Given the description of an element on the screen output the (x, y) to click on. 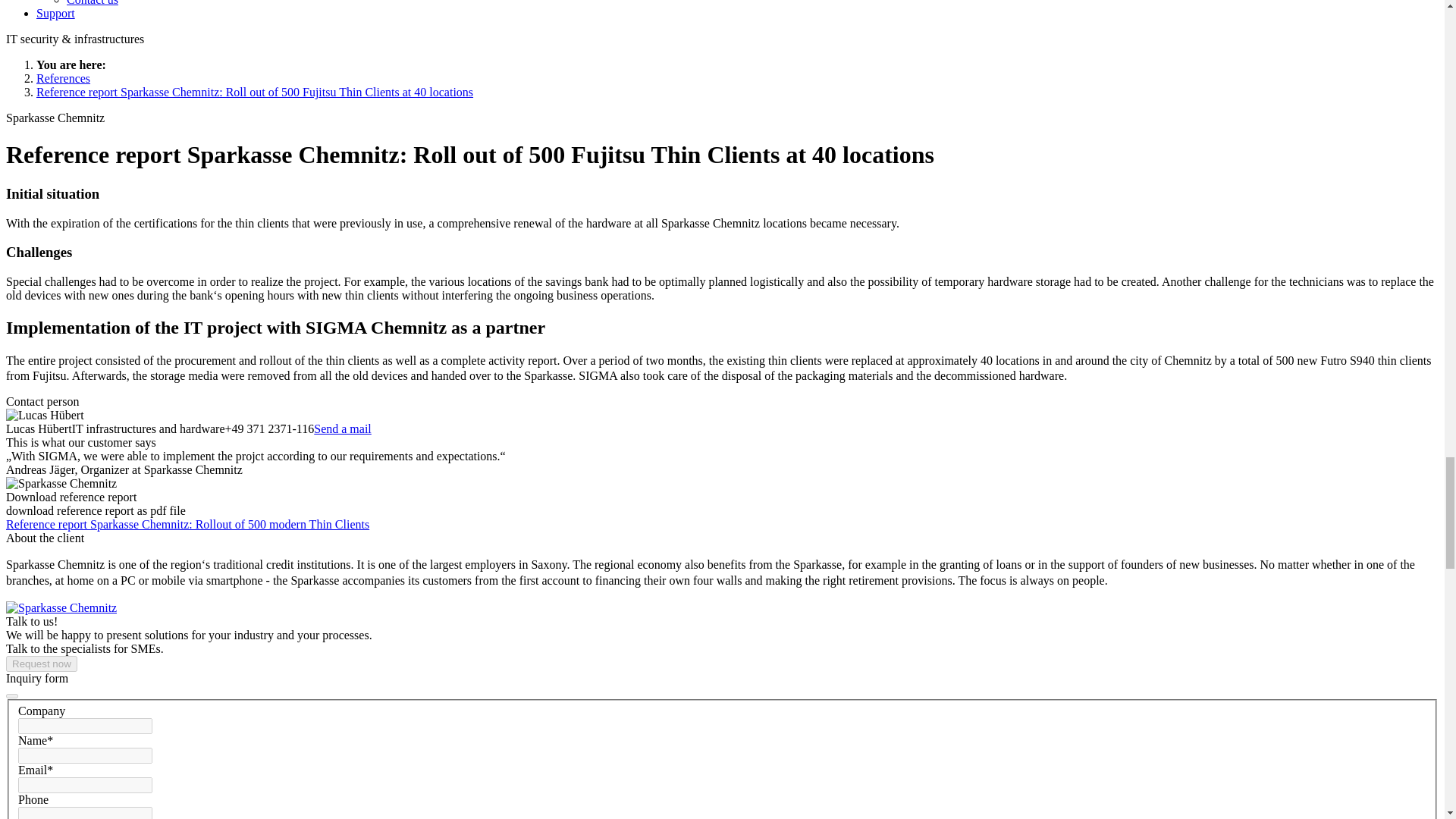
Sparkasse Chemnitz (60, 483)
References (63, 78)
